Given the description of an element on the screen output the (x, y) to click on. 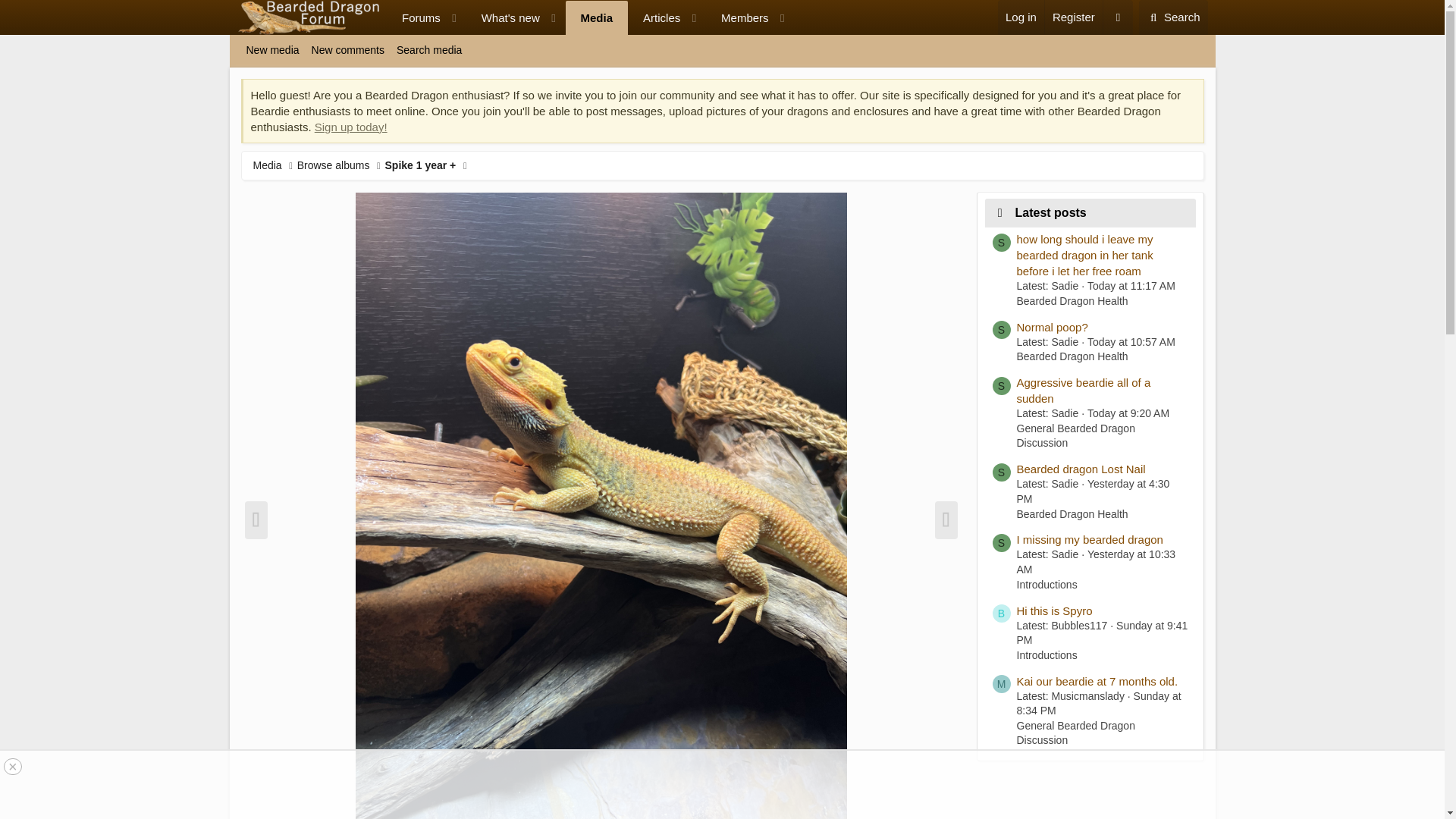
Jul 16, 2024 at 9:20 AM (1128, 413)
New comments (347, 50)
Jul 13, 2024 at 8:34 PM (1098, 703)
Log in (1020, 17)
Jul 13, 2024 at 9:41 PM (721, 67)
3rd party ad content (1102, 633)
Search (654, 17)
Members (1173, 17)
New media (738, 17)
Jul 15, 2024 at 10:33 AM (272, 50)
Register (1095, 561)
Jul 15, 2024 at 4:30 PM (1072, 17)
